Given the description of an element on the screen output the (x, y) to click on. 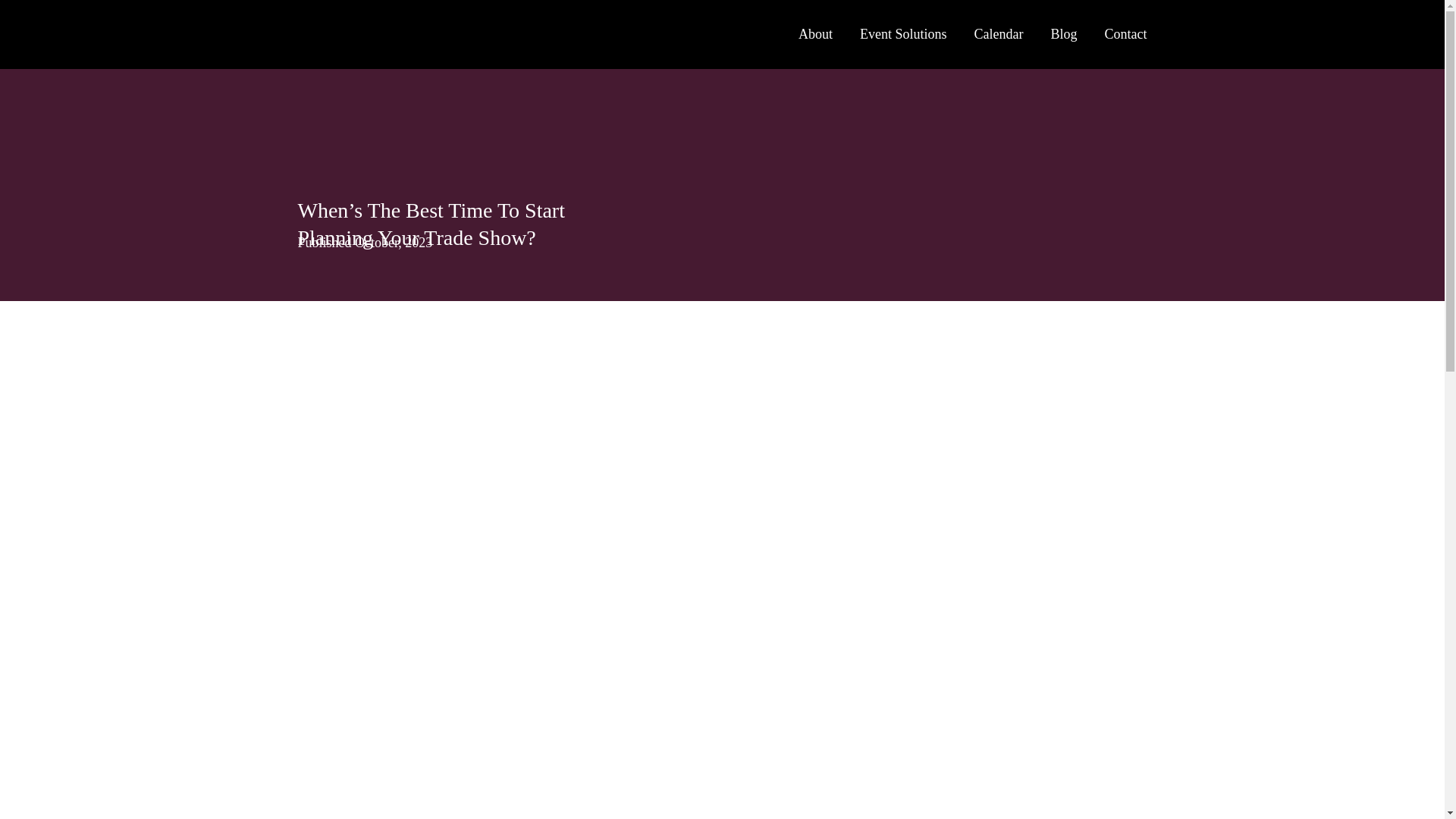
Contact (1125, 34)
Blog (1063, 34)
Calendar (998, 34)
About (814, 34)
Event Solutions (903, 34)
